Given the description of an element on the screen output the (x, y) to click on. 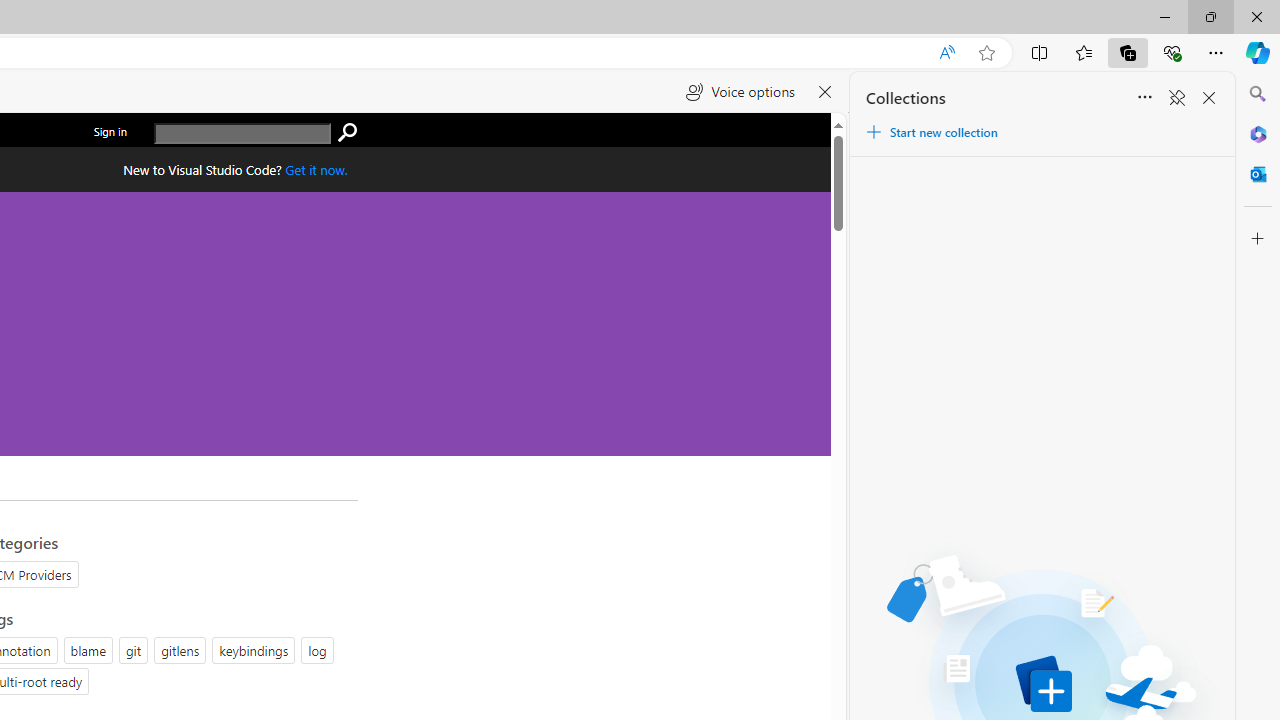
Sort (1144, 98)
Close read aloud (825, 92)
search (242, 133)
Close Collections (1208, 98)
Voice options (740, 92)
